Given the description of an element on the screen output the (x, y) to click on. 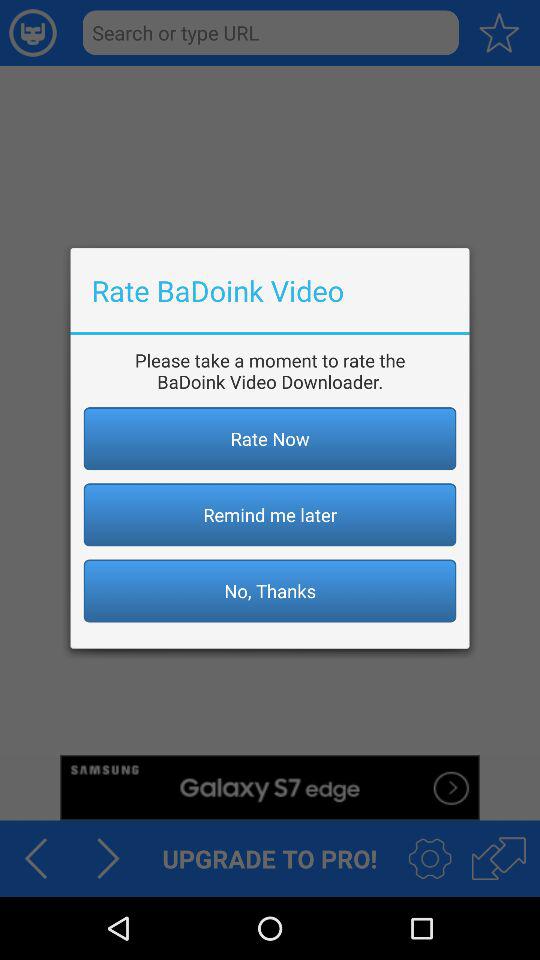
choose the item above the remind me later item (269, 438)
